Given the description of an element on the screen output the (x, y) to click on. 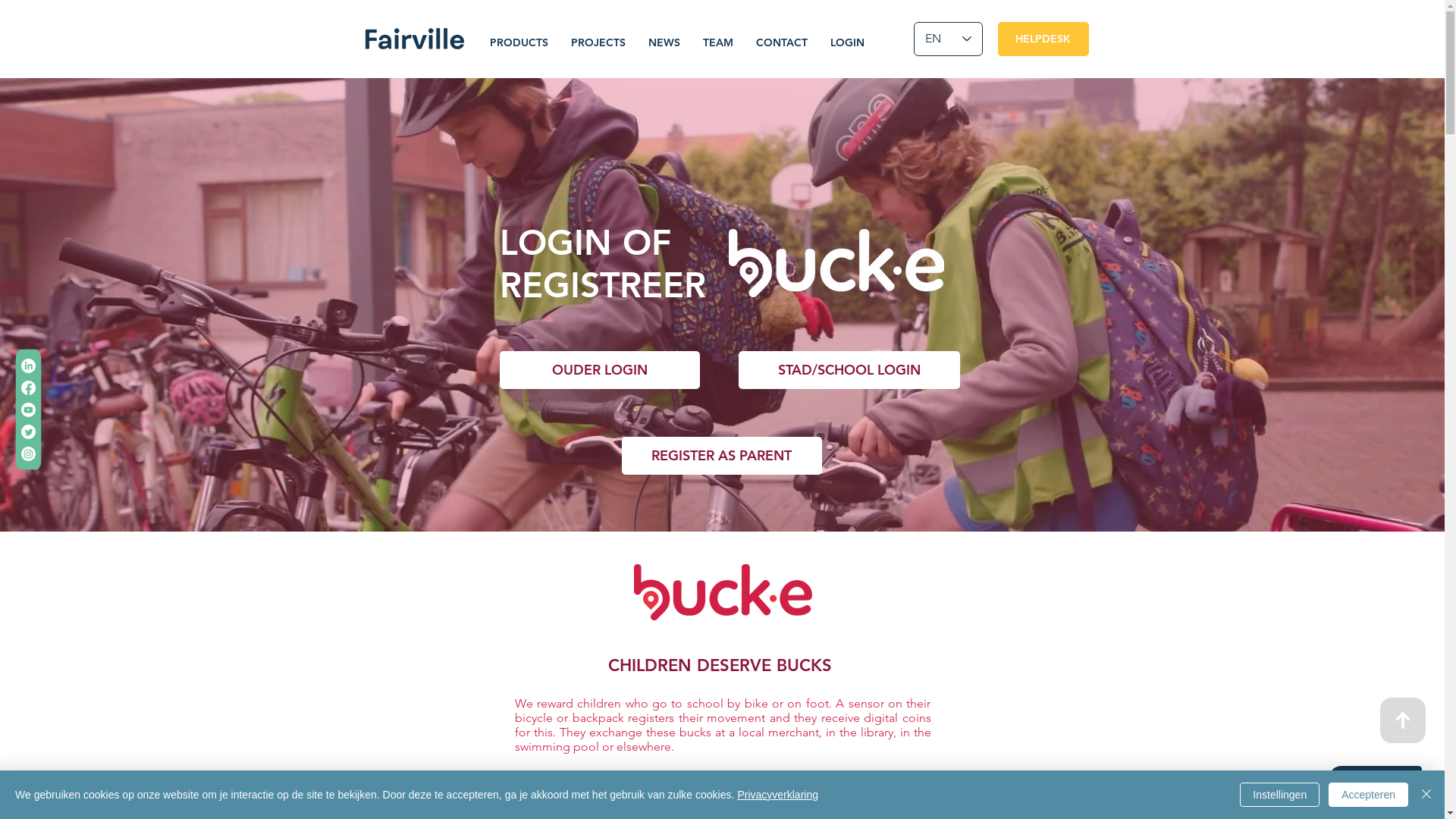
CONTACT Element type: text (781, 42)
Accepteren Element type: text (1368, 794)
TEAM Element type: text (717, 42)
Instellingen Element type: text (1279, 794)
HELPDESK Element type: text (1042, 38)
PROJECTS Element type: text (598, 42)
NEWS Element type: text (664, 42)
STAD/SCHOOL LOGIN Element type: text (849, 370)
OUDER LOGIN Element type: text (598, 370)
Privacyverklaring Element type: text (777, 794)
REGISTER AS PARENT Element type: text (721, 455)
PRODUCTS Element type: text (517, 42)
LOGIN Element type: text (847, 42)
Logo_Buck-e_white.png Element type: hover (835, 263)
Fairville logo color.png Element type: hover (413, 38)
